Given the description of an element on the screen output the (x, y) to click on. 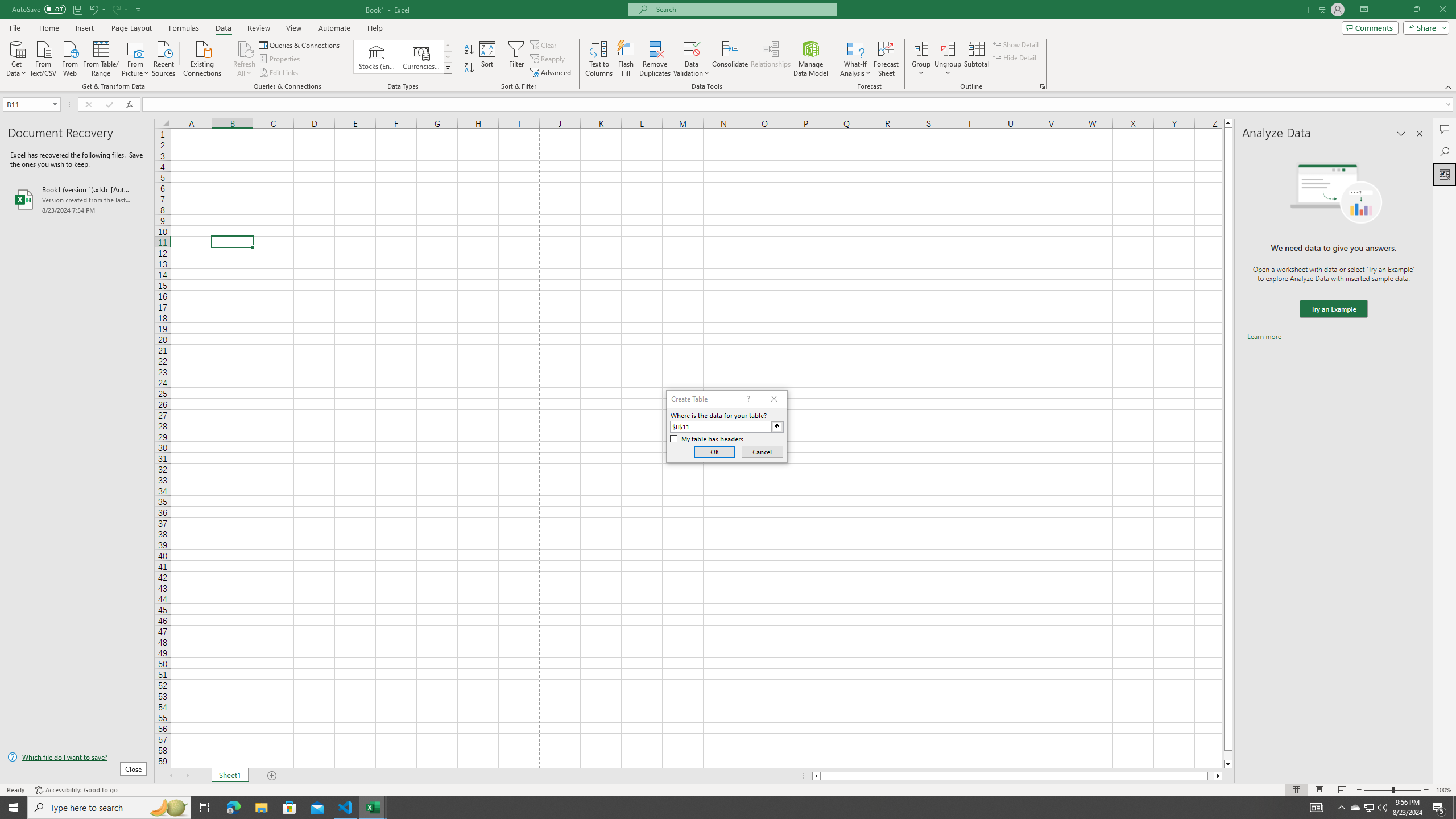
Data Types (448, 67)
Text to Columns... (598, 58)
Comments (1369, 27)
Search (1444, 151)
We need data to give you answers. Try an Example (1333, 308)
Save (77, 9)
Add Sheet (272, 775)
Hide Detail (1014, 56)
Sheet1 (229, 775)
Subtotal (976, 58)
Stocks (English) (375, 56)
Book1 (version 1).xlsb  [AutoRecovered] (77, 199)
Microsoft search (742, 9)
Analyze Data (1444, 173)
